Given the description of an element on the screen output the (x, y) to click on. 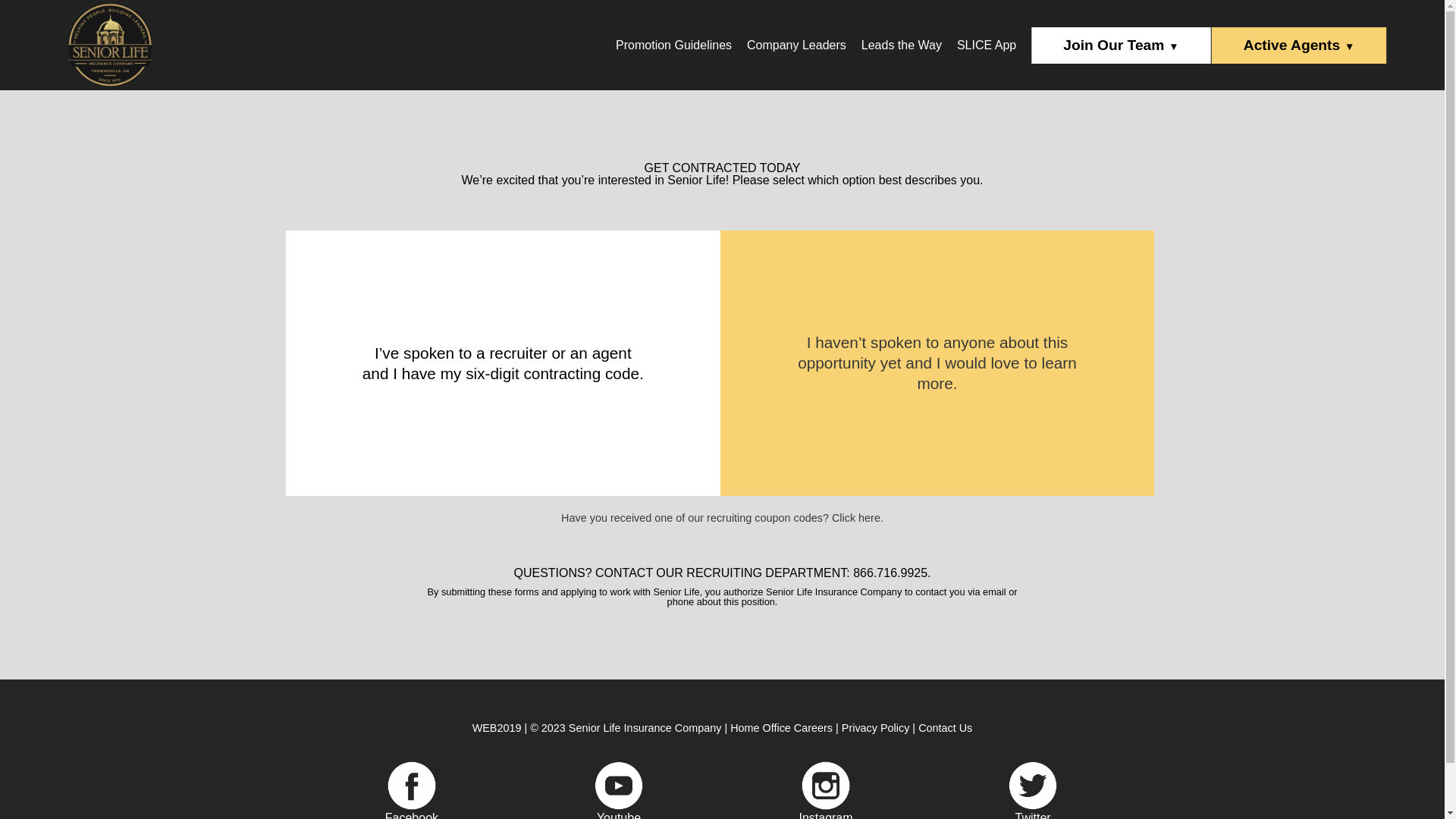
Instagram (827, 815)
Twitter (1033, 815)
Facebook (413, 815)
Privacy Policy (875, 727)
Promotion Guidelines (673, 45)
Youtube (619, 815)
Contact Us (945, 727)
Home Office Careers (781, 727)
SLICE App (986, 45)
Company Leaders (796, 45)
Leads the Way (901, 45)
